Given the description of an element on the screen output the (x, y) to click on. 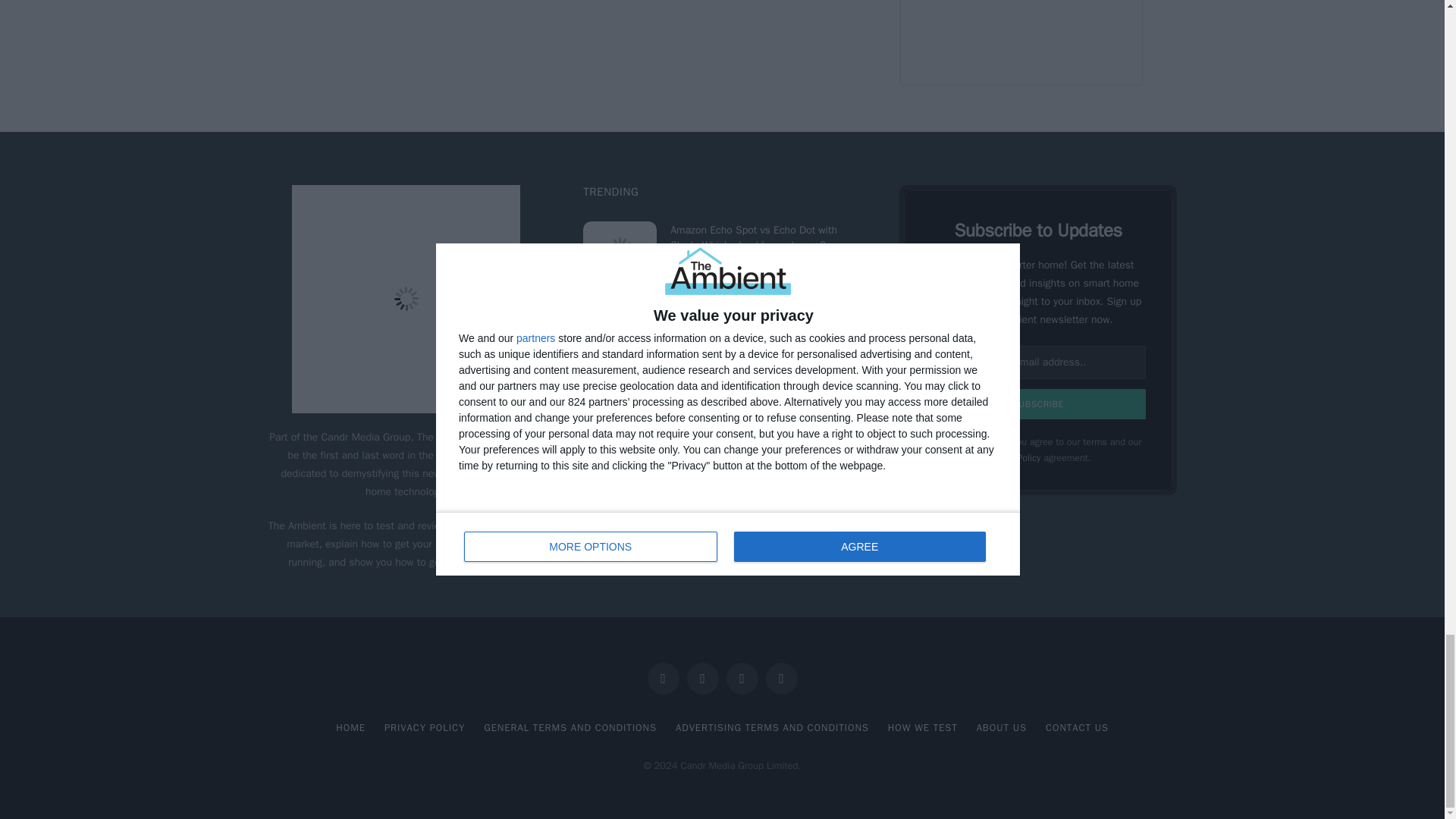
Subscribe (1038, 404)
on (939, 441)
